Given the description of an element on the screen output the (x, y) to click on. 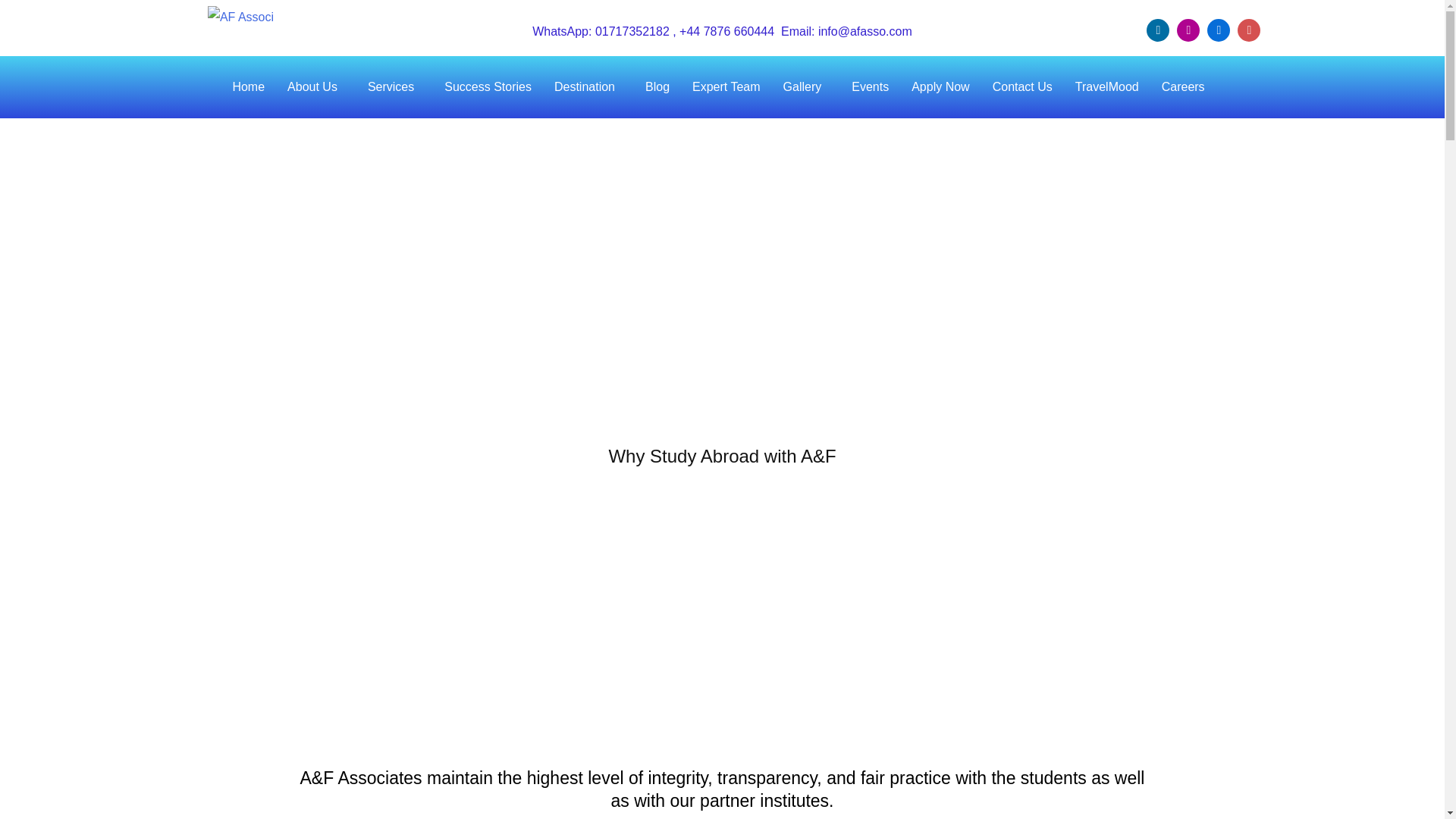
Services (394, 86)
Blog (657, 86)
Contact Us (1022, 86)
Careers (1187, 86)
Destination (588, 86)
TravelMood (1107, 86)
Home (248, 86)
About Us (316, 86)
Events (869, 86)
Success Stories (487, 86)
Gallery (806, 86)
Apply Now (939, 86)
Expert Team (726, 86)
